Given the description of an element on the screen output the (x, y) to click on. 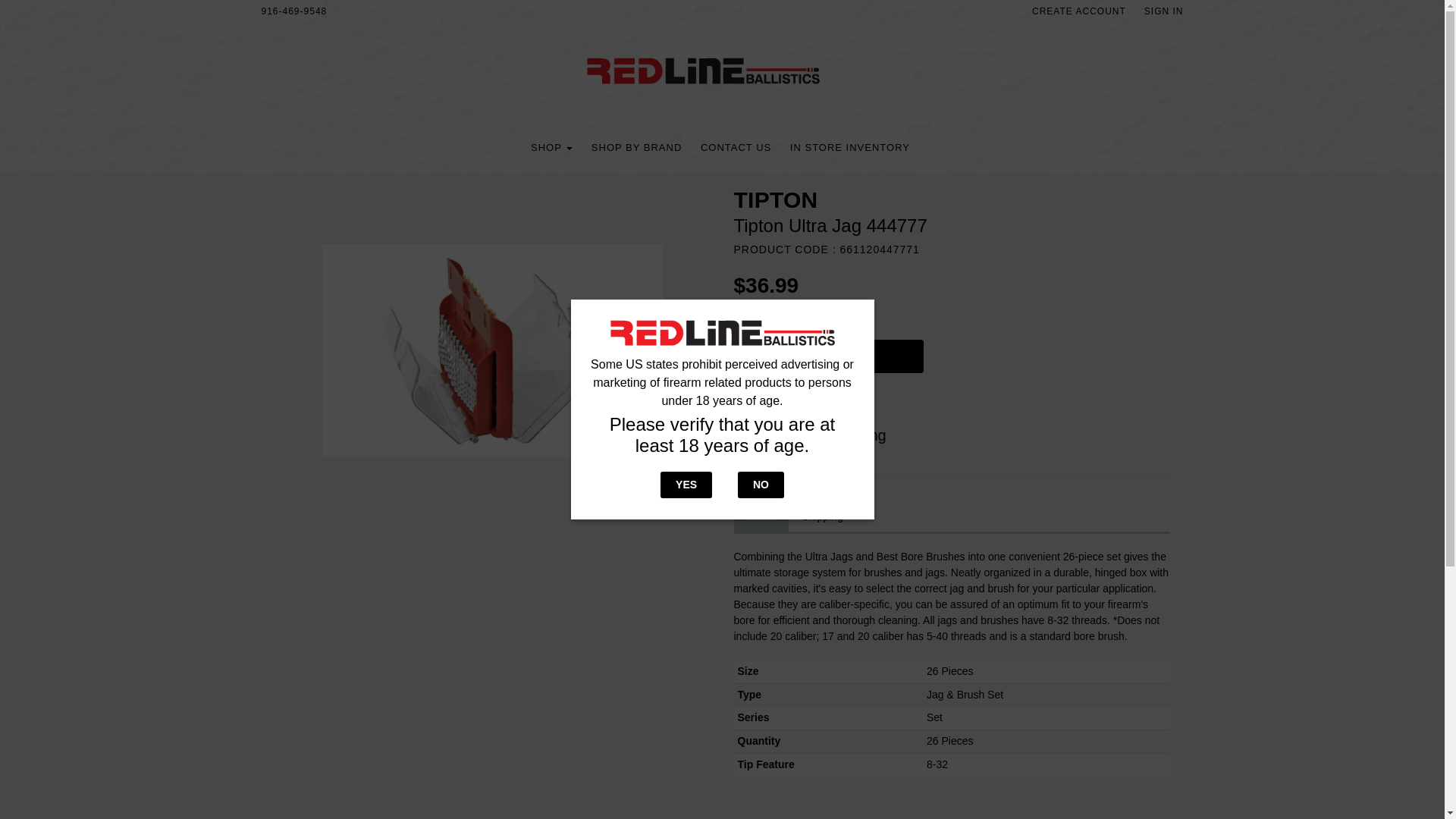
SHOP BY BRAND (636, 147)
Details (761, 517)
CREATE ACCOUNT (1079, 11)
IN STORE INVENTORY (850, 147)
ADD TO CART (828, 356)
SIGN IN (1163, 11)
Shipping (822, 517)
916-469-9548 (293, 11)
SHOP (551, 147)
CONTACT US (735, 147)
ADD TO CART (836, 359)
